Given the description of an element on the screen output the (x, y) to click on. 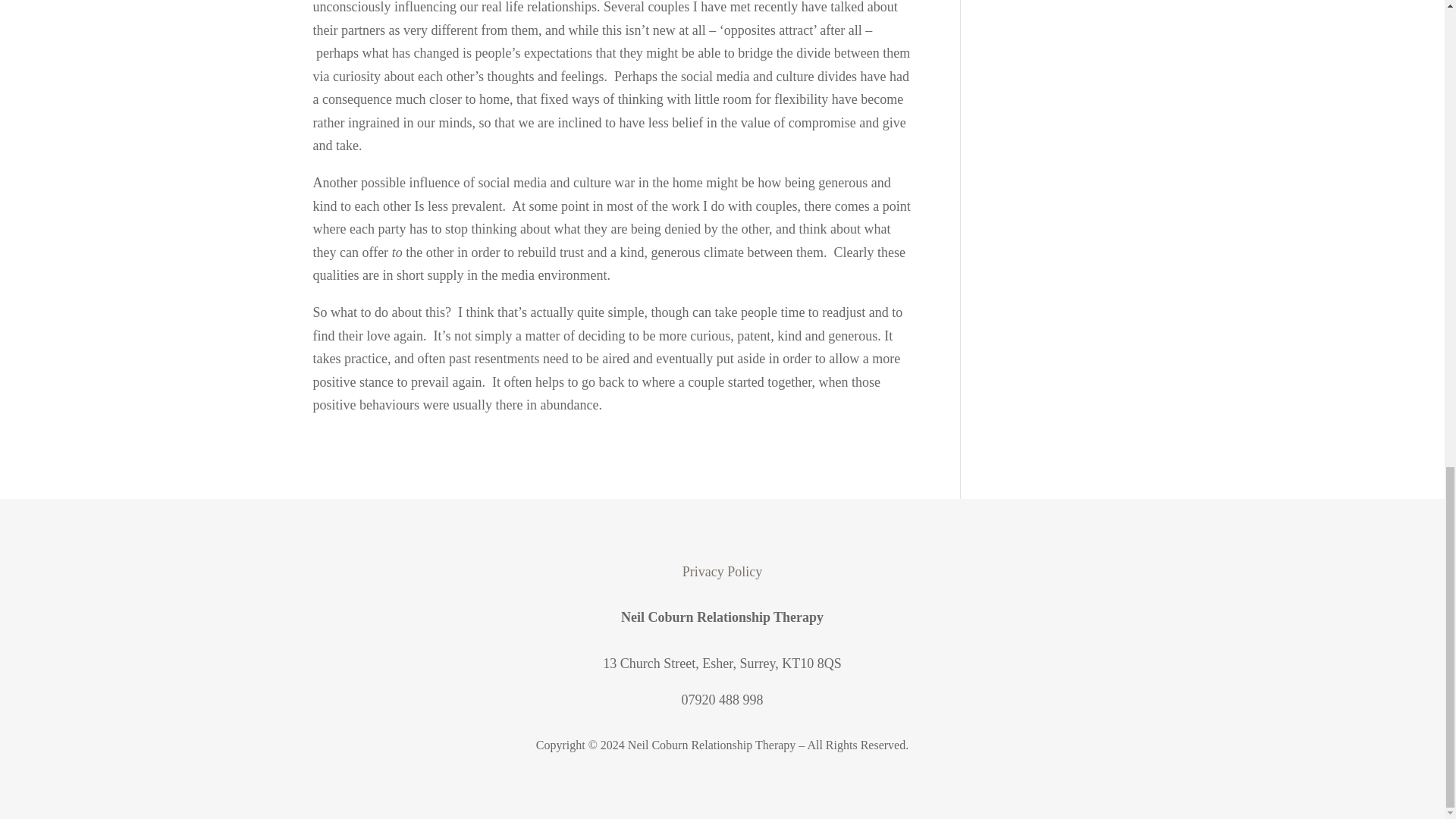
Privacy Policy (722, 571)
